Given the description of an element on the screen output the (x, y) to click on. 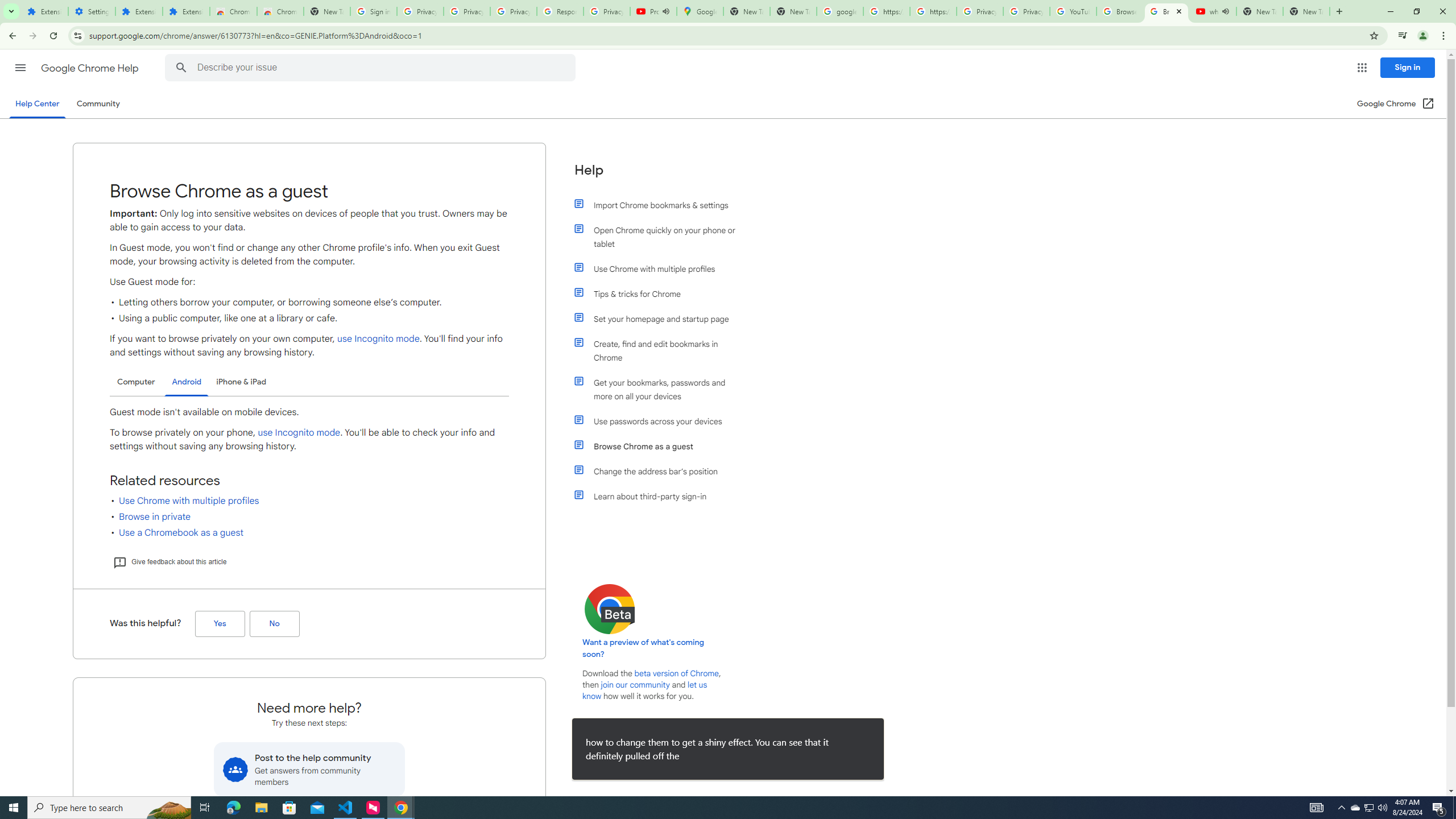
New Tab (326, 11)
Import Chrome bookmarks & settings (661, 204)
join our community (634, 684)
Tips & tricks for Chrome (661, 293)
